Given the description of an element on the screen output the (x, y) to click on. 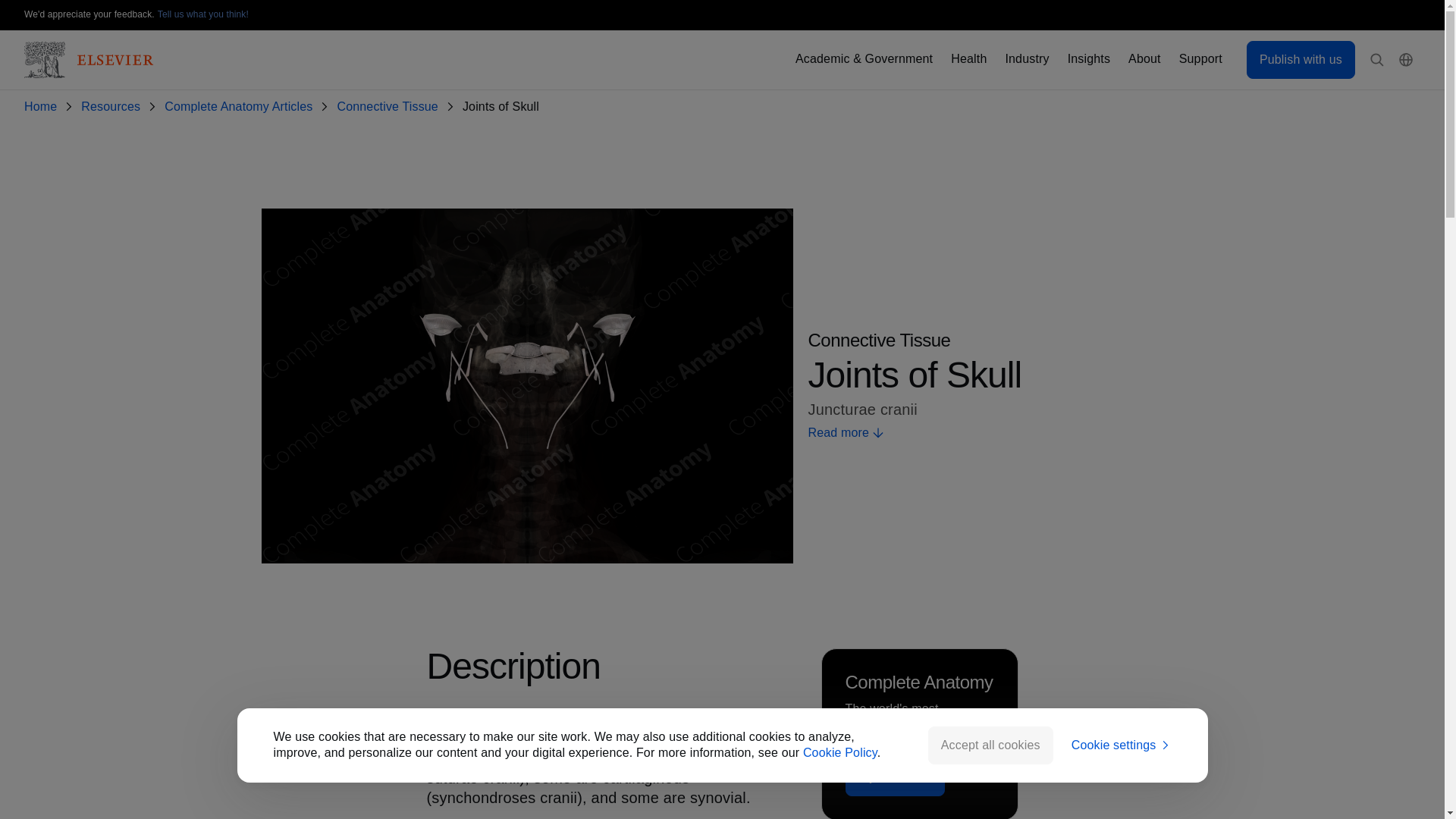
Cookie Policy (840, 752)
About (1144, 59)
Support (1201, 59)
Resources (114, 107)
Open Search (1376, 59)
Try it for Free (894, 777)
Publish with us (1300, 59)
Industry (1026, 59)
Accept all cookies (990, 745)
Complete Anatomy Articles (241, 107)
Home (43, 107)
Connective Tissue (390, 107)
Cookie settings (1121, 745)
Location Selector (1406, 59)
Health (968, 59)
